Given the description of an element on the screen output the (x, y) to click on. 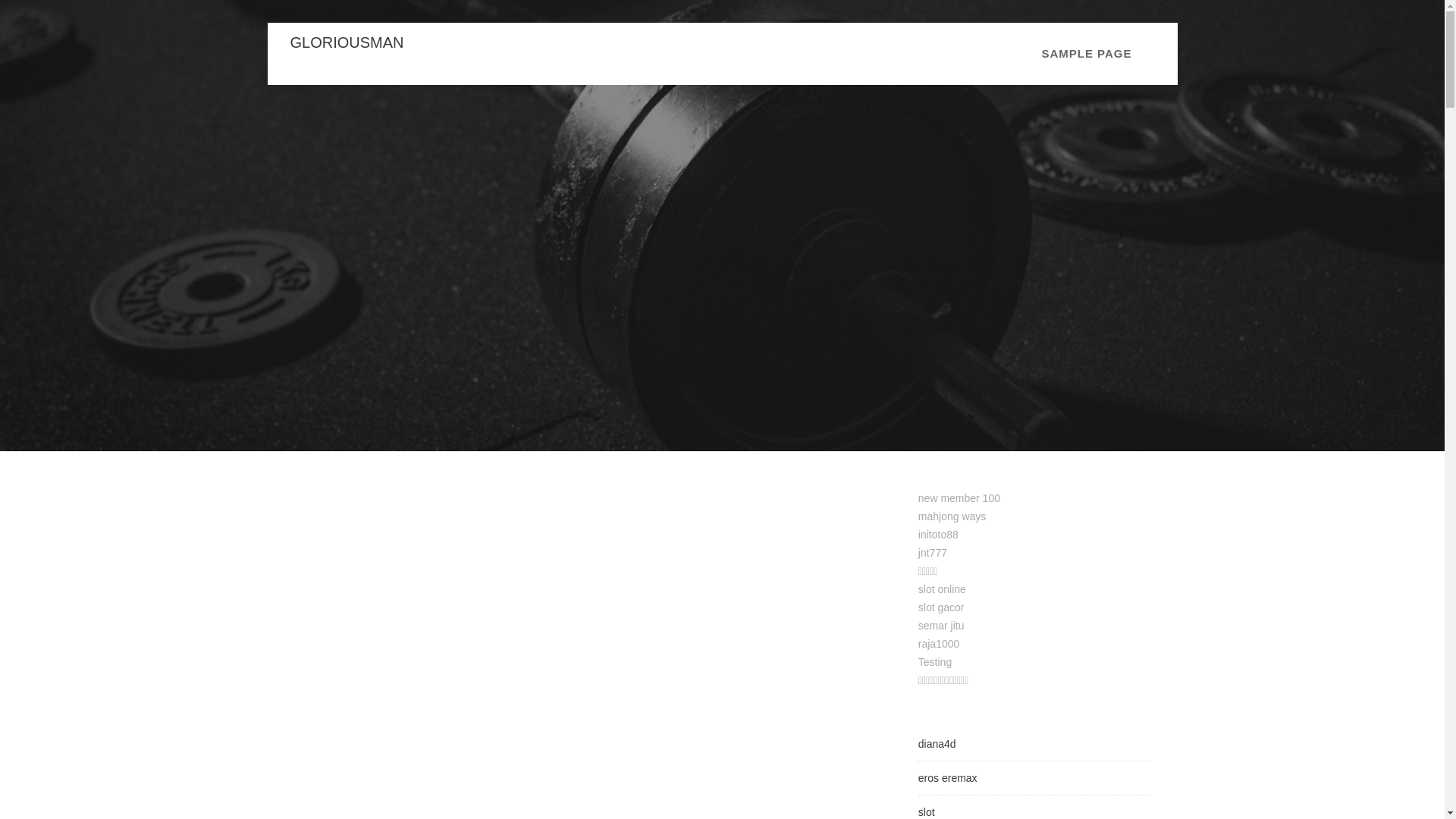
semar jitu (940, 625)
initoto88 (938, 534)
gloriousman (346, 42)
diana4d (937, 743)
slot (926, 811)
SAMPLE PAGE (1085, 53)
slot gacor (940, 607)
slot online (942, 589)
Testing (935, 662)
GLORIOUSMAN (346, 42)
eros eremax (947, 777)
mahjong ways (952, 516)
jnt777 (932, 552)
raja1000 (938, 644)
